Given the description of an element on the screen output the (x, y) to click on. 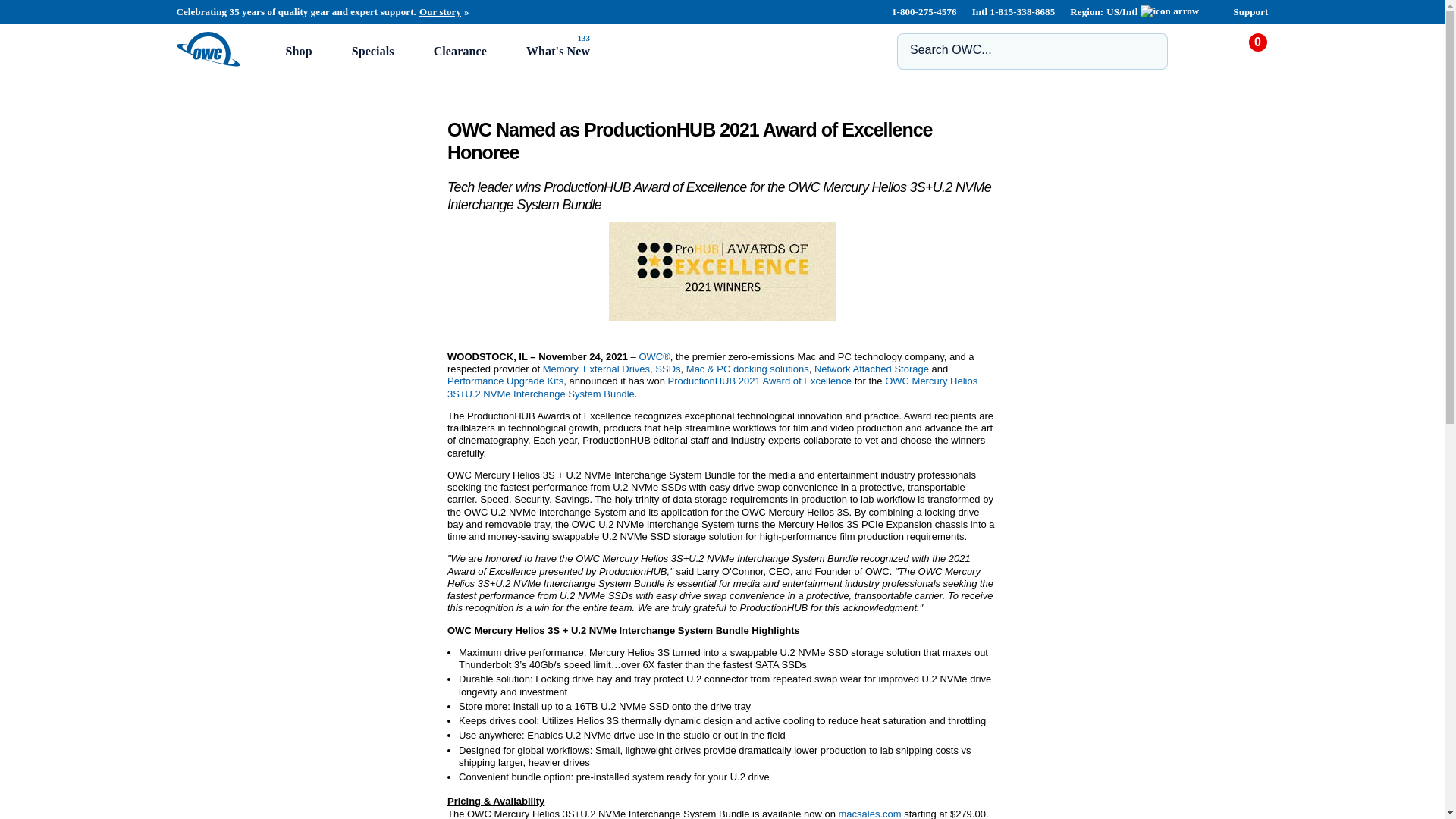
Search (1146, 50)
0 (1255, 56)
Intl 1-815-338-8685 (1013, 11)
Support (1250, 11)
What's New (557, 50)
1-800-275-4576 (922, 11)
Specials (372, 50)
Clearance (460, 50)
